Given the description of an element on the screen output the (x, y) to click on. 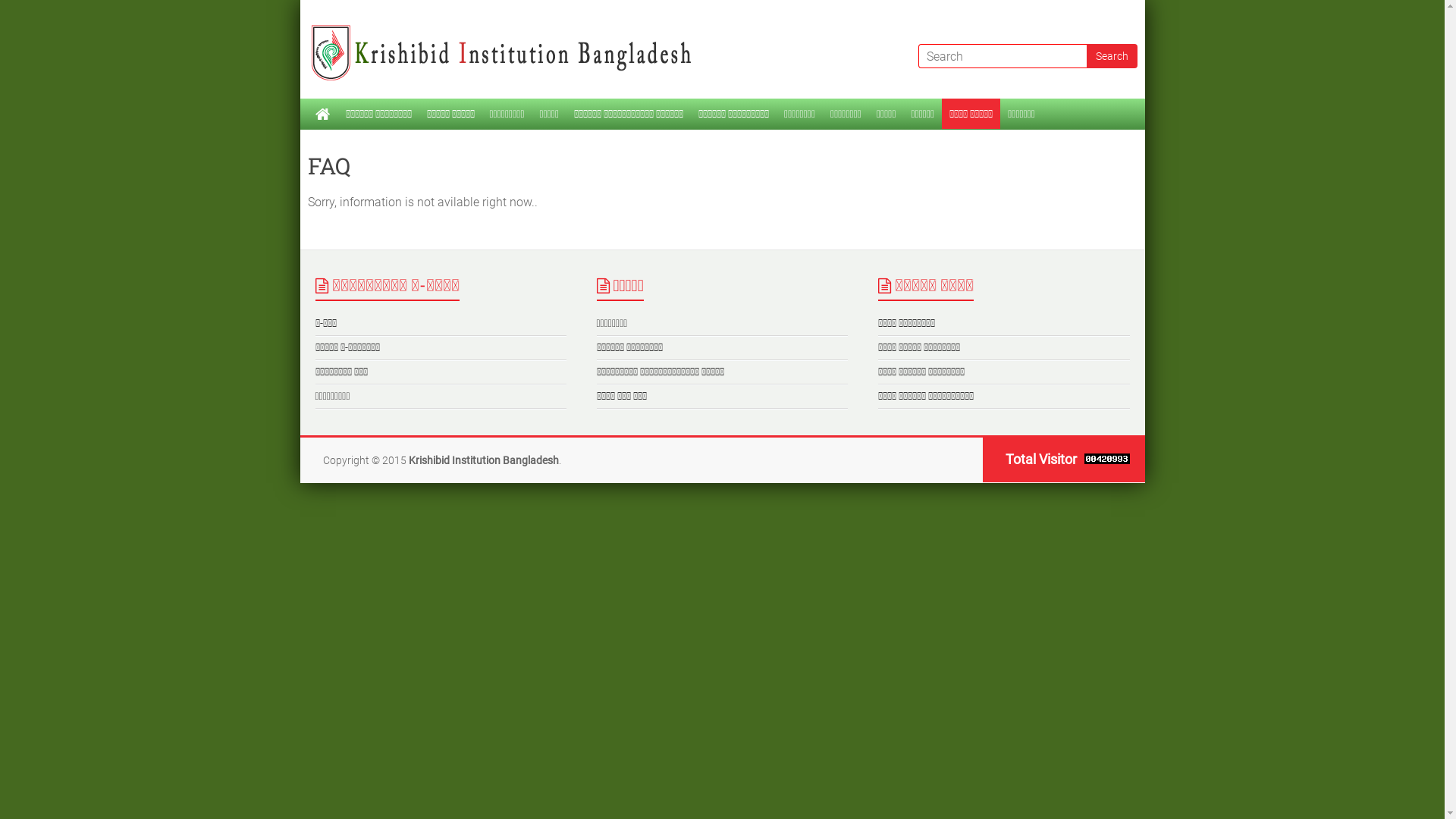
Search Element type: text (1110, 55)
Total Visitor Element type: text (1036, 459)
Krishibid Institution Bangladesh Element type: text (482, 460)
Krishibid Institution Bangladesh Element type: hover (508, 29)
wordpress visitors Element type: hover (1102, 459)
